Given the description of an element on the screen output the (x, y) to click on. 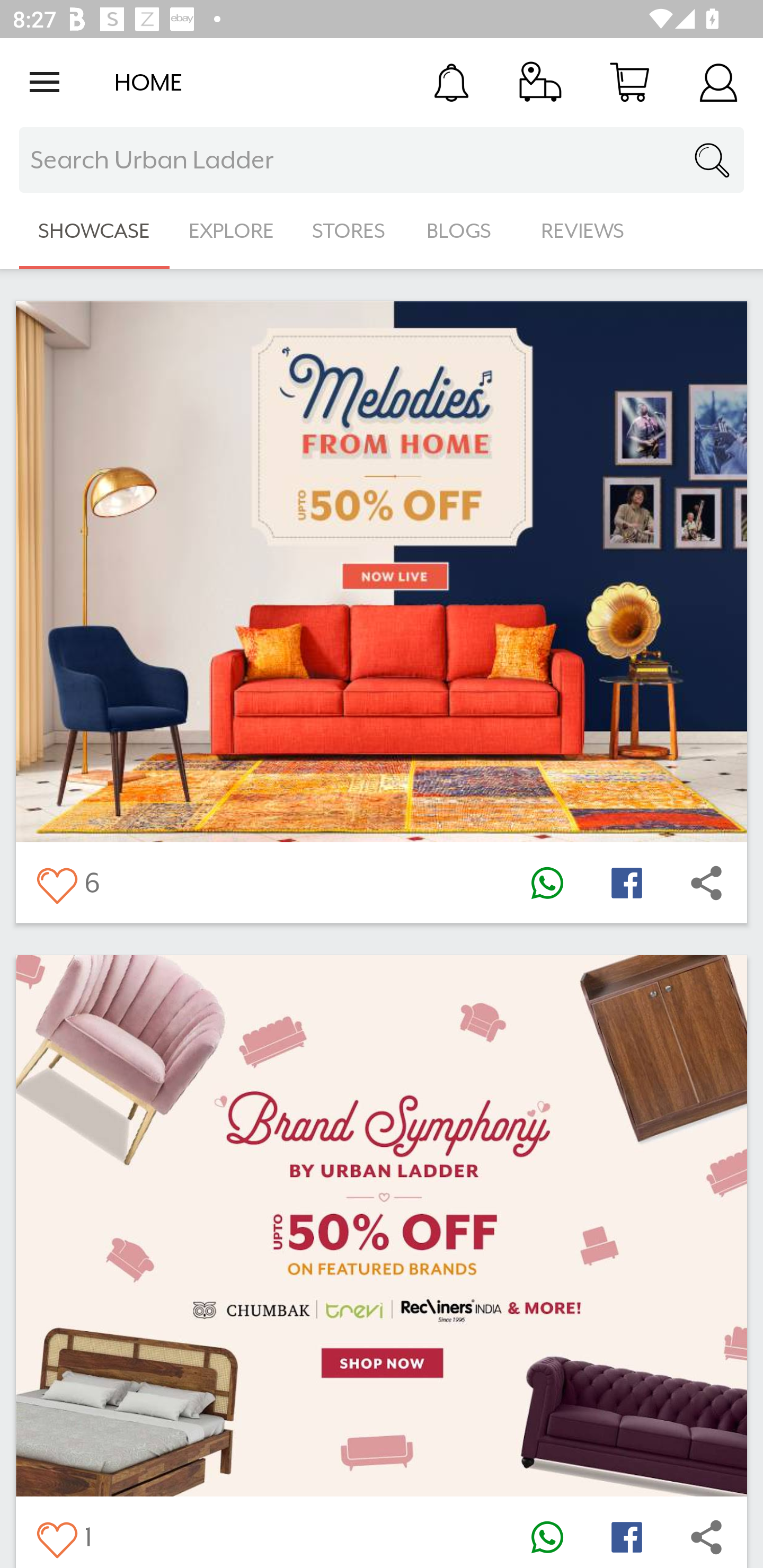
Open navigation drawer (44, 82)
Notification (450, 81)
Track Order (540, 81)
Cart (629, 81)
Account Details (718, 81)
Search Urban Ladder  (381, 159)
SHOWCASE (94, 230)
EXPLORE (230, 230)
STORES (349, 230)
BLOGS (464, 230)
REVIEWS (582, 230)
 (55, 882)
 (547, 882)
 (626, 882)
 (706, 882)
 (55, 1536)
 (547, 1536)
 (626, 1536)
 (706, 1536)
